Given the description of an element on the screen output the (x, y) to click on. 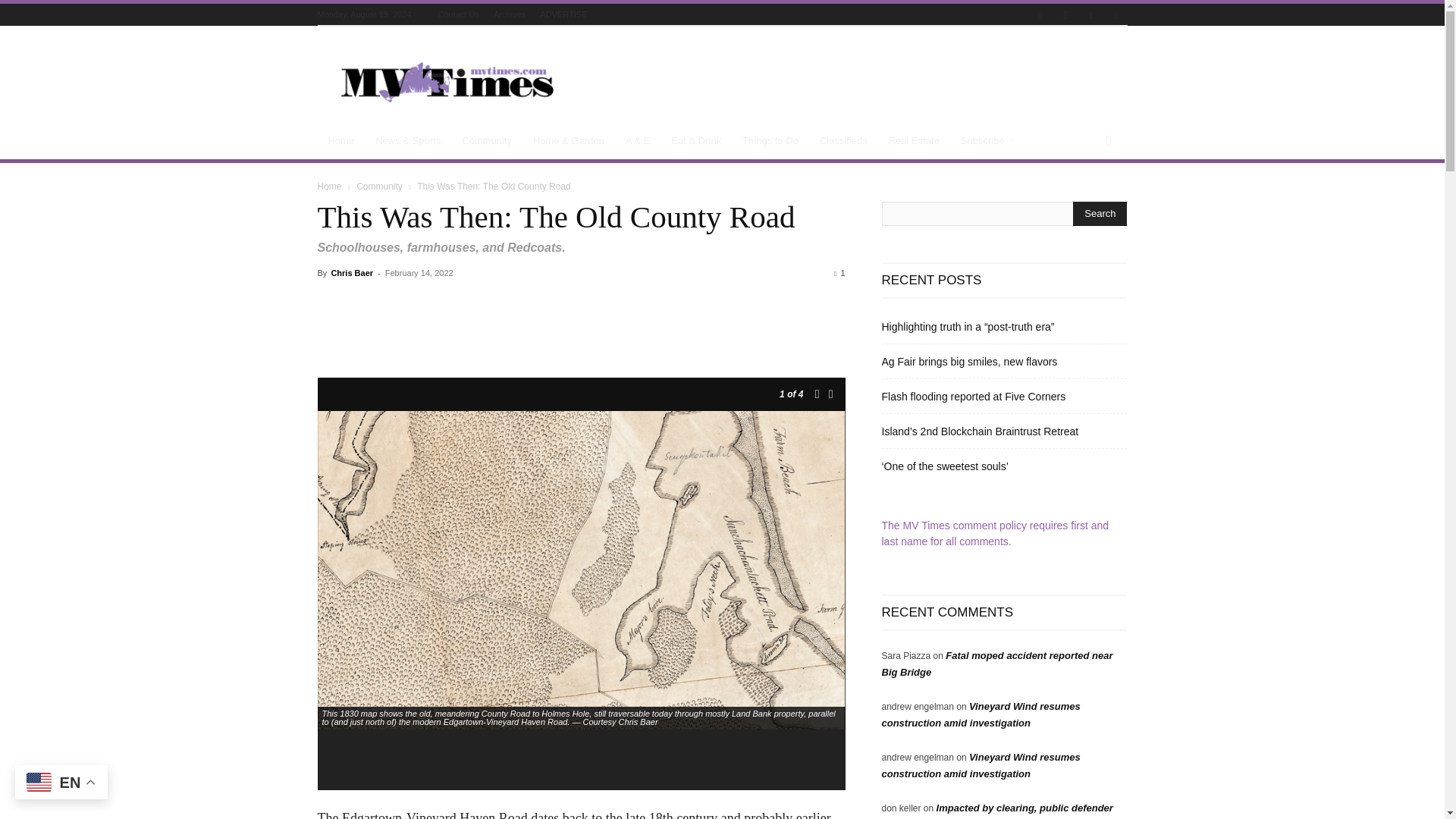
Classifieds (843, 140)
3rd party ad content (850, 81)
Community (486, 140)
Things to Do (770, 140)
Search (1099, 213)
Twitter (1090, 14)
ADVERTISE (563, 13)
Contact Us (458, 13)
View all posts in Community (379, 185)
Youtube (1114, 14)
